Given the description of an element on the screen output the (x, y) to click on. 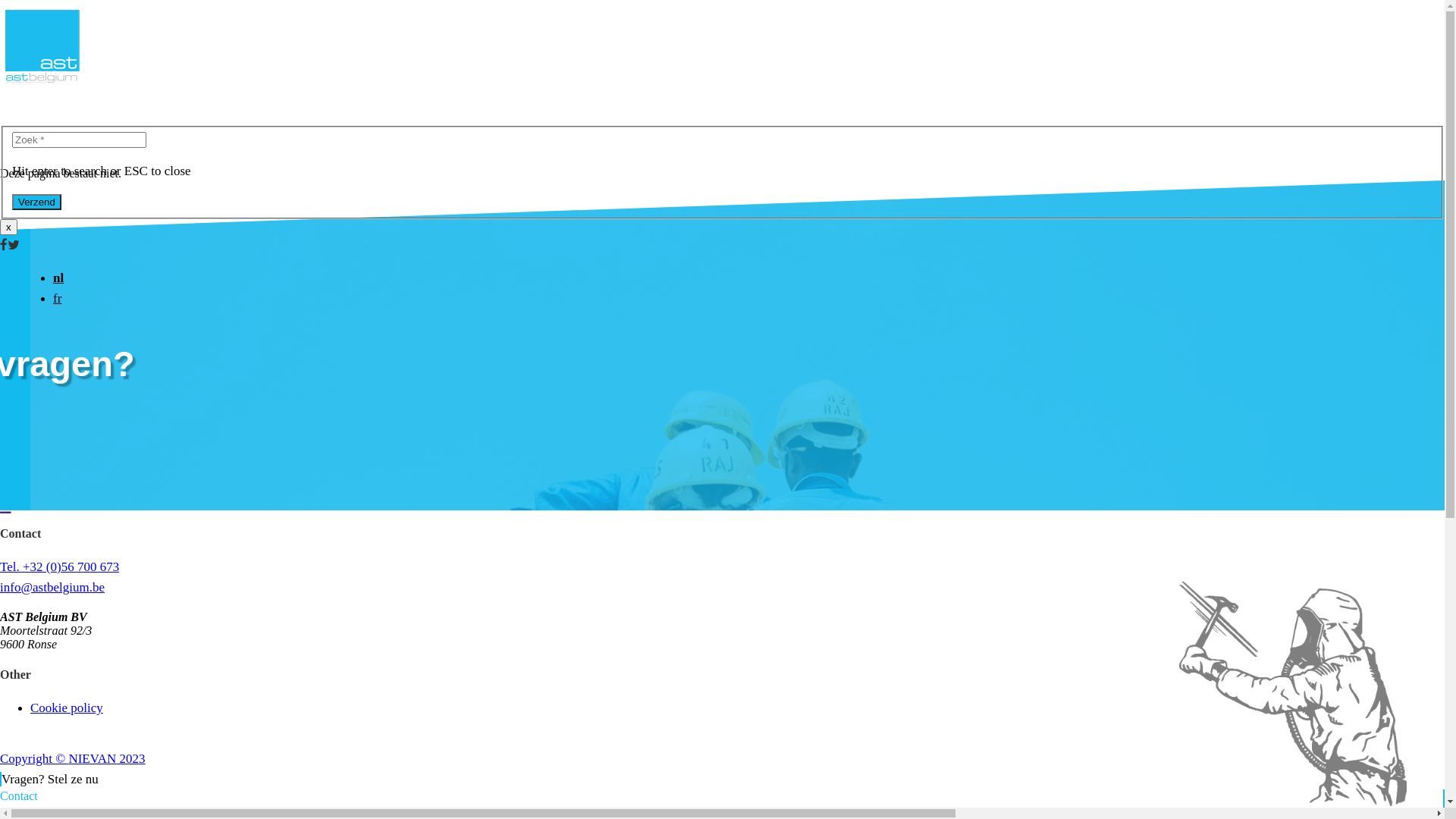
Nieuws Element type: text (777, 392)
Tel. +32 (0)56 700 673 Element type: text (59, 566)
Vragen? Stel ze nu Element type: text (49, 778)
Evolutie Element type: text (175, 454)
Home Element type: text (777, 352)
nl Element type: text (58, 277)
Verzend Element type: text (36, 202)
x Element type: text (8, 227)
Over ons Element type: text (776, 413)
Bescherming Element type: text (777, 372)
Contact Element type: text (776, 475)
Ons team Element type: text (176, 433)
Cookie policy Element type: text (66, 707)
fr Element type: text (57, 298)
info@astbelgium.be Element type: text (52, 587)
